Given the description of an element on the screen output the (x, y) to click on. 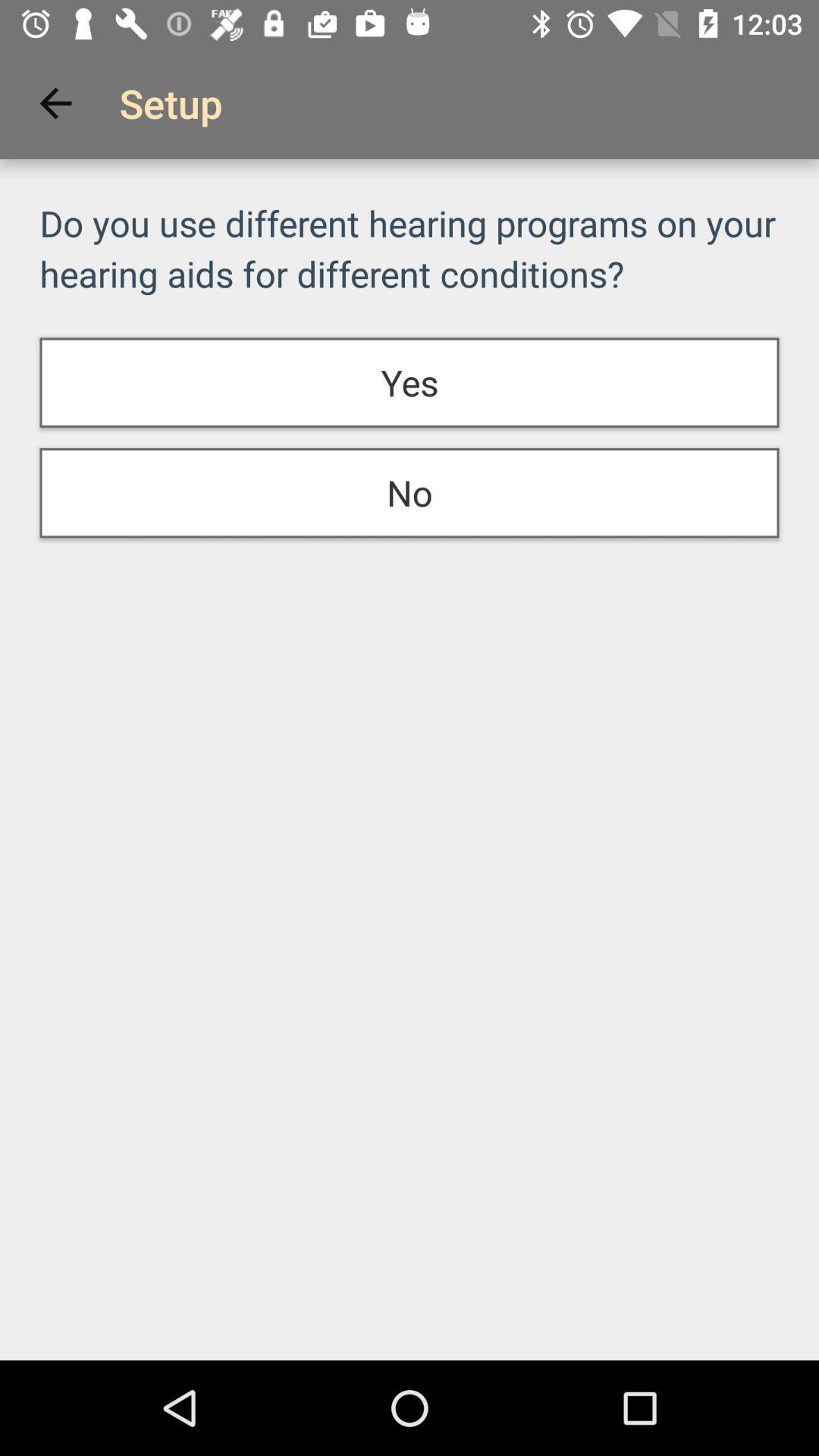
press the item above the do you use icon (55, 103)
